Given the description of an element on the screen output the (x, y) to click on. 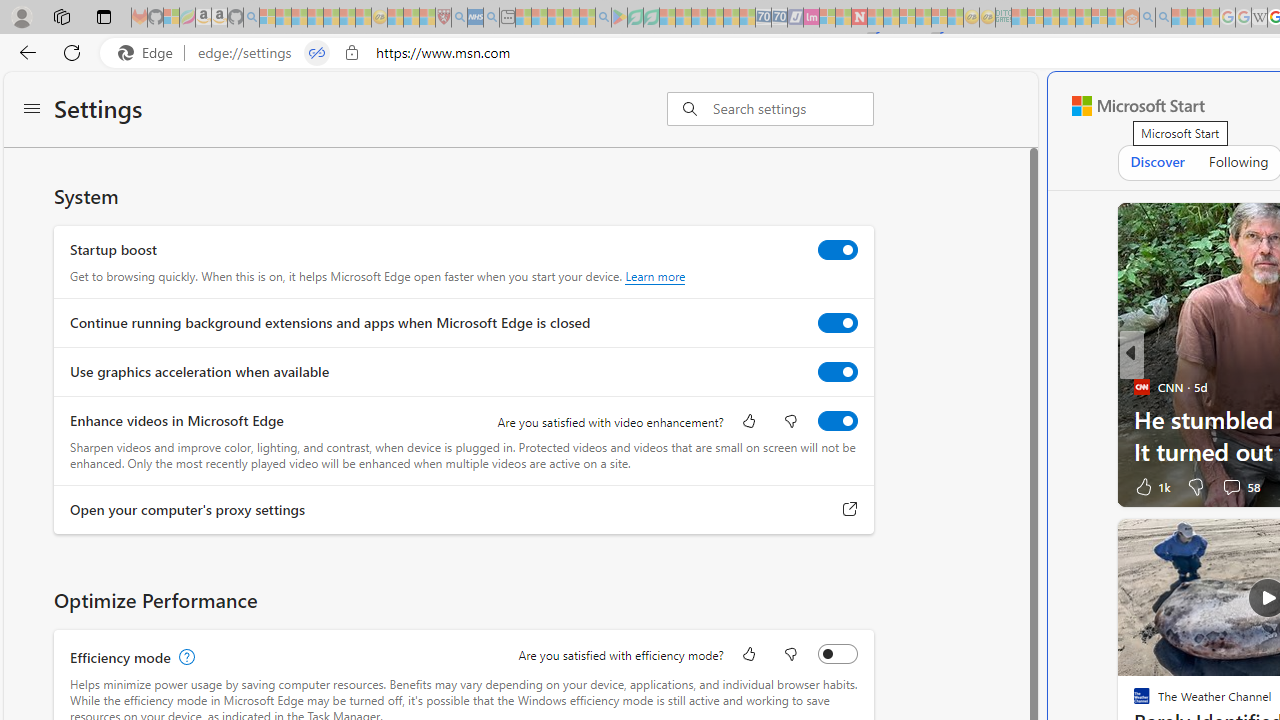
Discover (1156, 162)
Enhance videos in Microsoft Edge (837, 421)
